Given the description of an element on the screen output the (x, y) to click on. 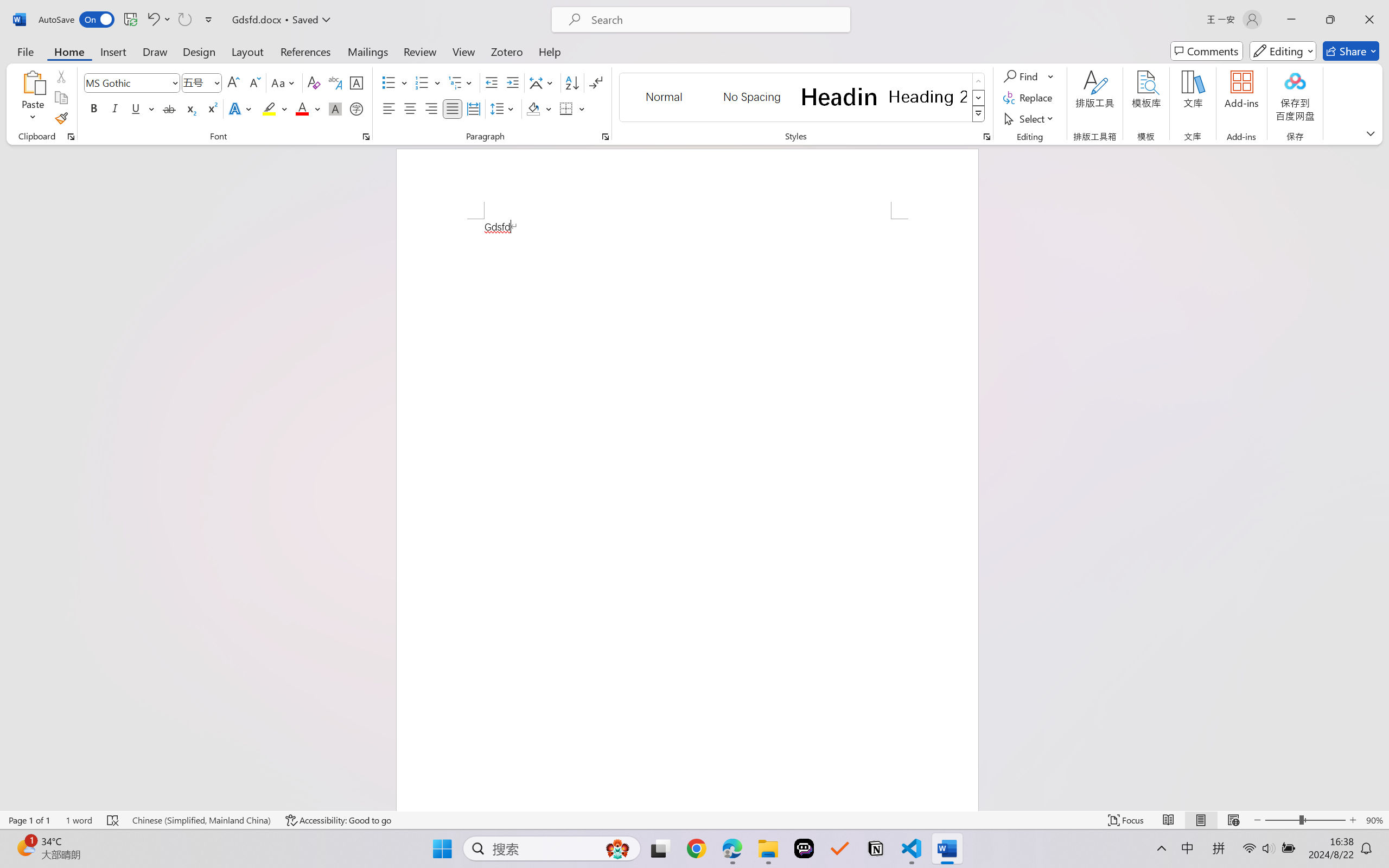
Spelling and Grammar Check Errors (113, 819)
Language Chinese (Simplified, Mainland China) (201, 819)
AutomationID: QuickStylesGallery (802, 97)
Shading RGB(0, 0, 0) (533, 108)
